Given the description of an element on the screen output the (x, y) to click on. 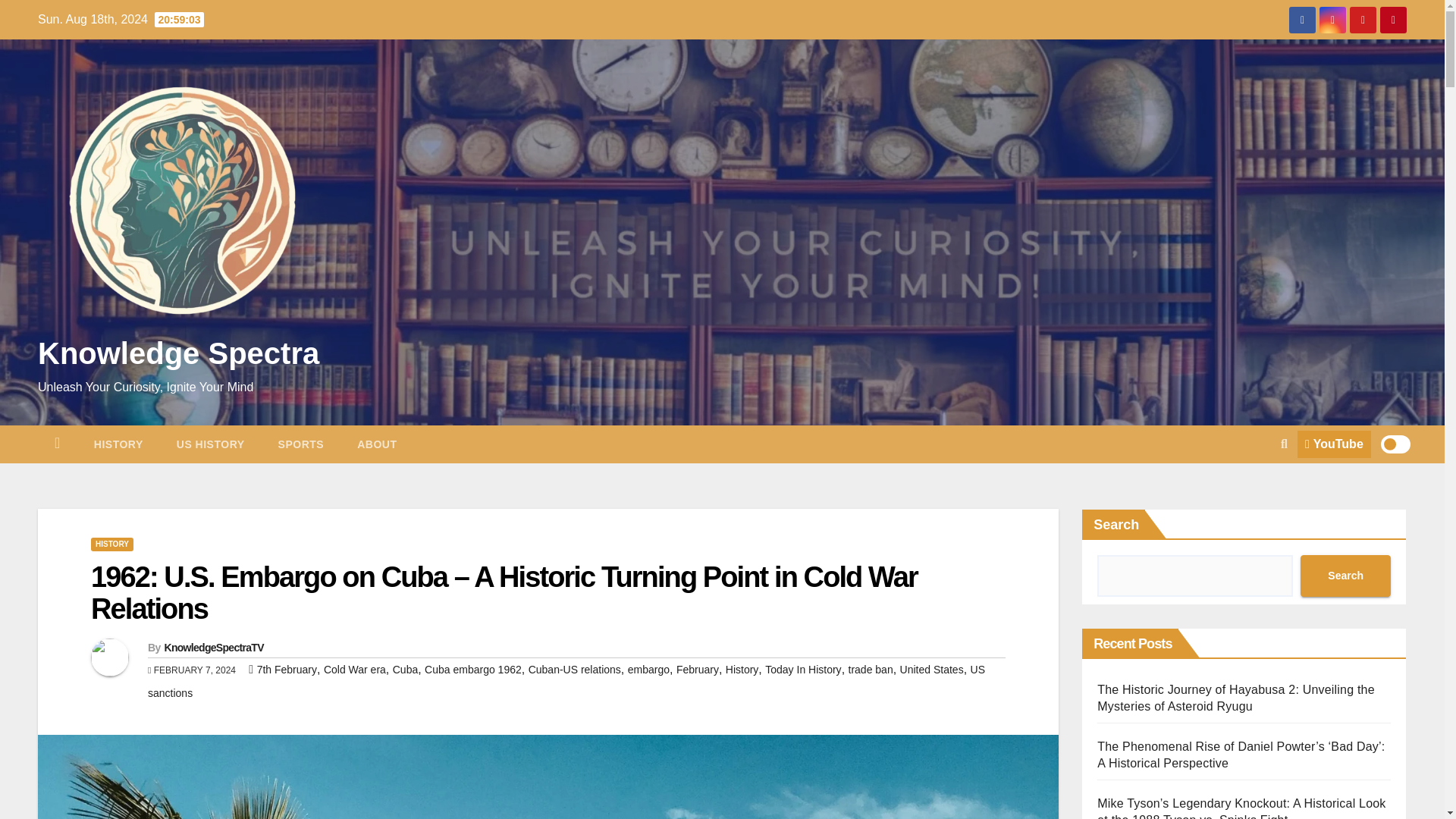
US sanctions (566, 681)
US History (211, 444)
Knowledge Spectra (177, 353)
HISTORY (118, 444)
Cuba (405, 669)
Cuban-US relations (574, 669)
HISTORY (111, 544)
YouTube (1334, 443)
KnowledgeSpectraTV (213, 647)
About (376, 444)
